Given the description of an element on the screen output the (x, y) to click on. 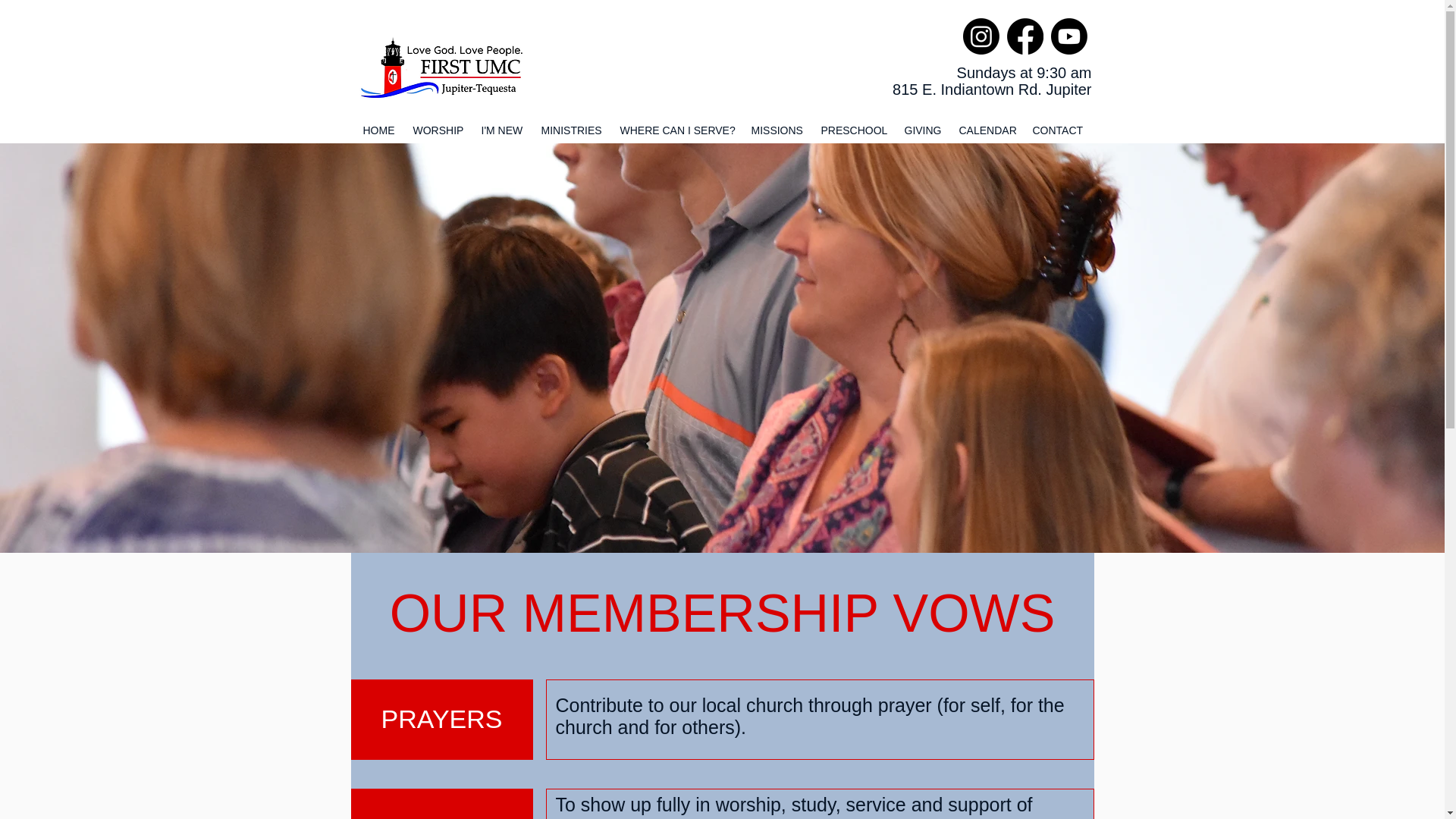
CONTACT (1059, 130)
PRESCHOOL (854, 130)
WHERE CAN I SERVE? (678, 130)
CALENDAR (987, 130)
WORSHIP (438, 130)
GIVING (923, 130)
HOME (379, 130)
